Given the description of an element on the screen output the (x, y) to click on. 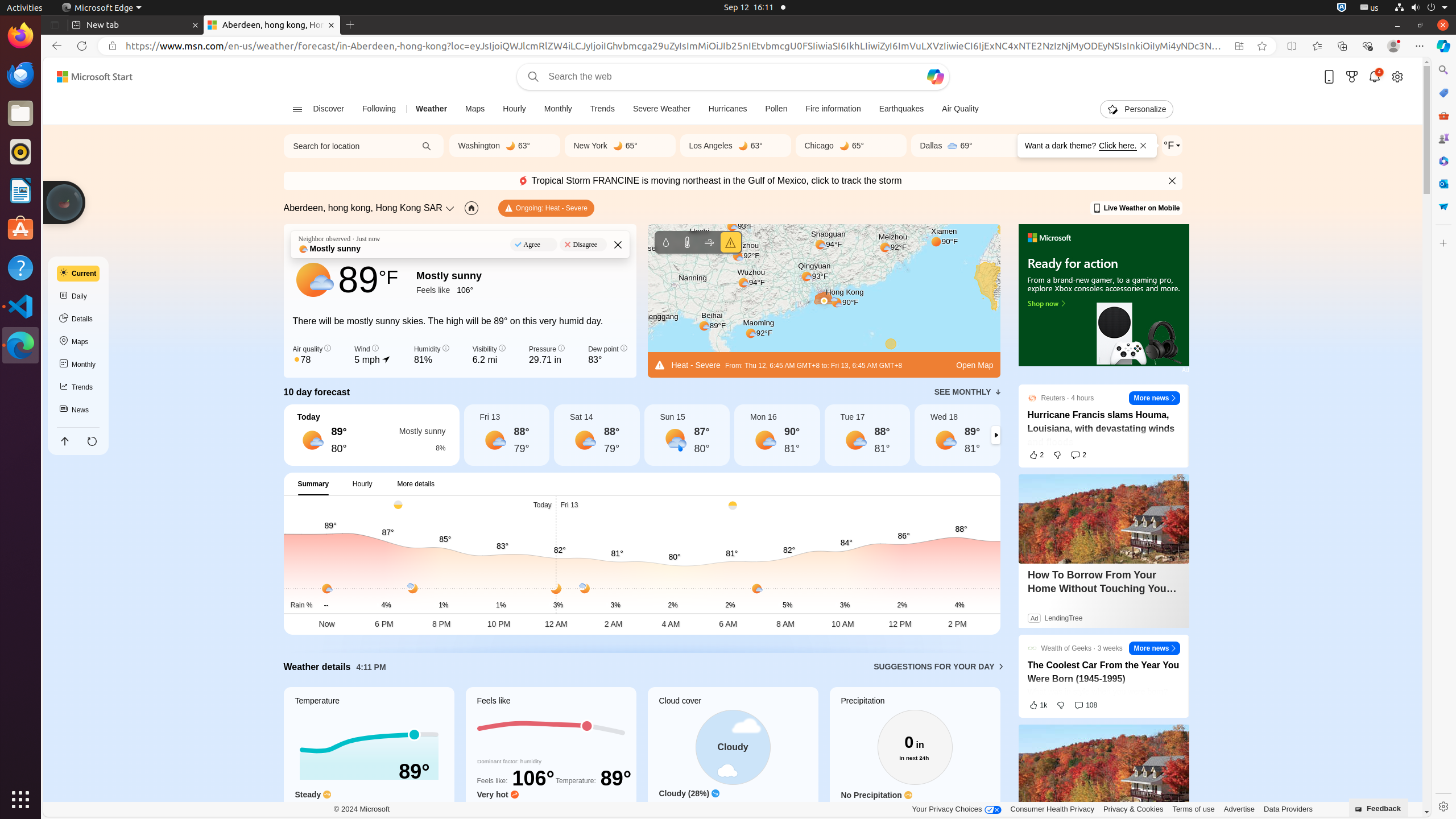
Click to open the link to download the Microsoft Start mobile app Element type: push-button (1328, 76)
Sat 14 Mostly sunny 88° 79° Element type: push-button (596, 434)
Visual Studio Code Element type: push-button (20, 306)
Air Quality Element type: link (959, 108)
Aberdeen, hong kong, Hong Kong SAR Element type: link (362, 207)
